Given the description of an element on the screen output the (x, y) to click on. 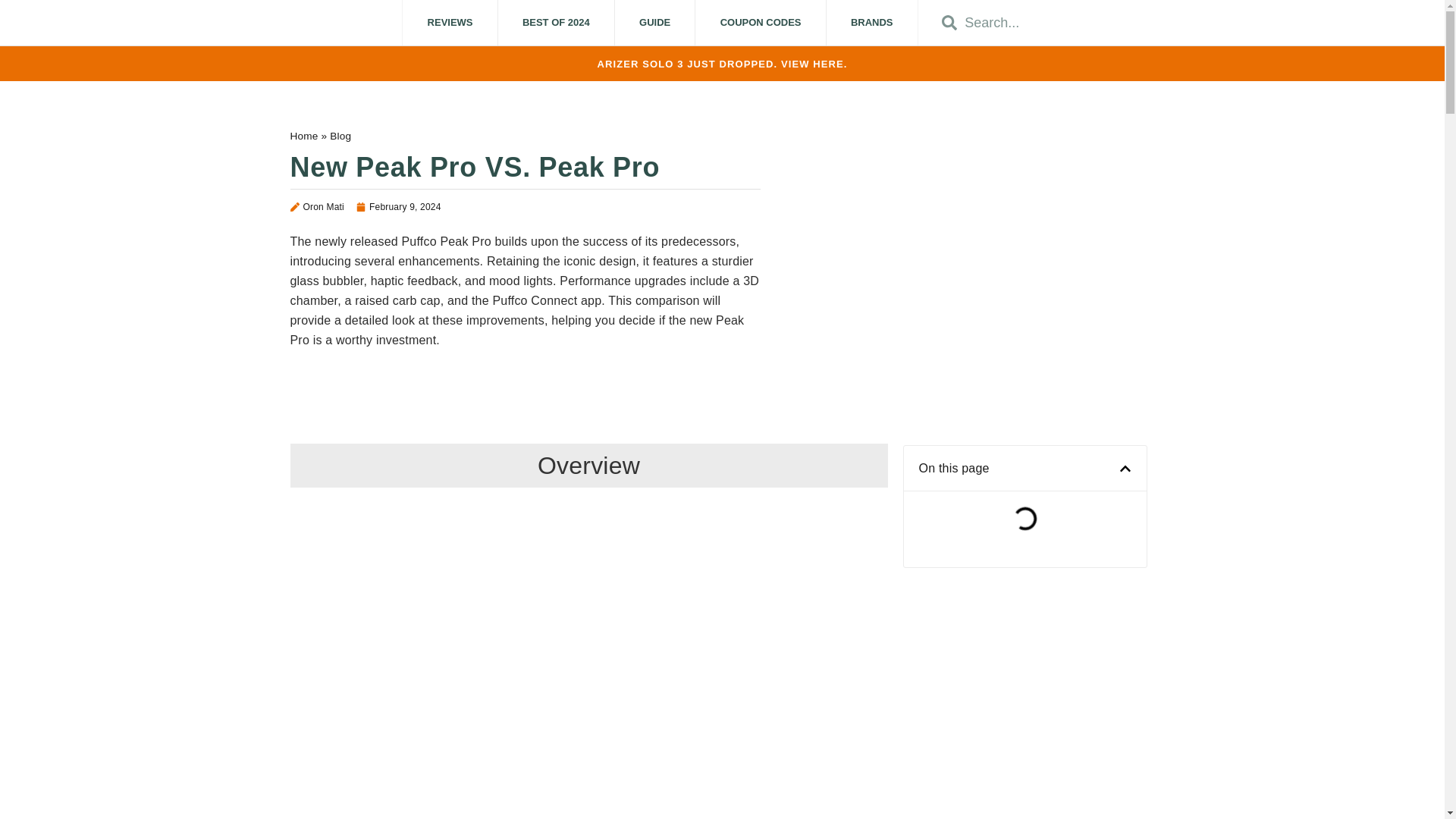
GUIDE (654, 22)
COUPON CODES (760, 22)
REVIEWS (449, 22)
BEST OF 2024 (555, 22)
BRANDS (872, 22)
